Given the description of an element on the screen output the (x, y) to click on. 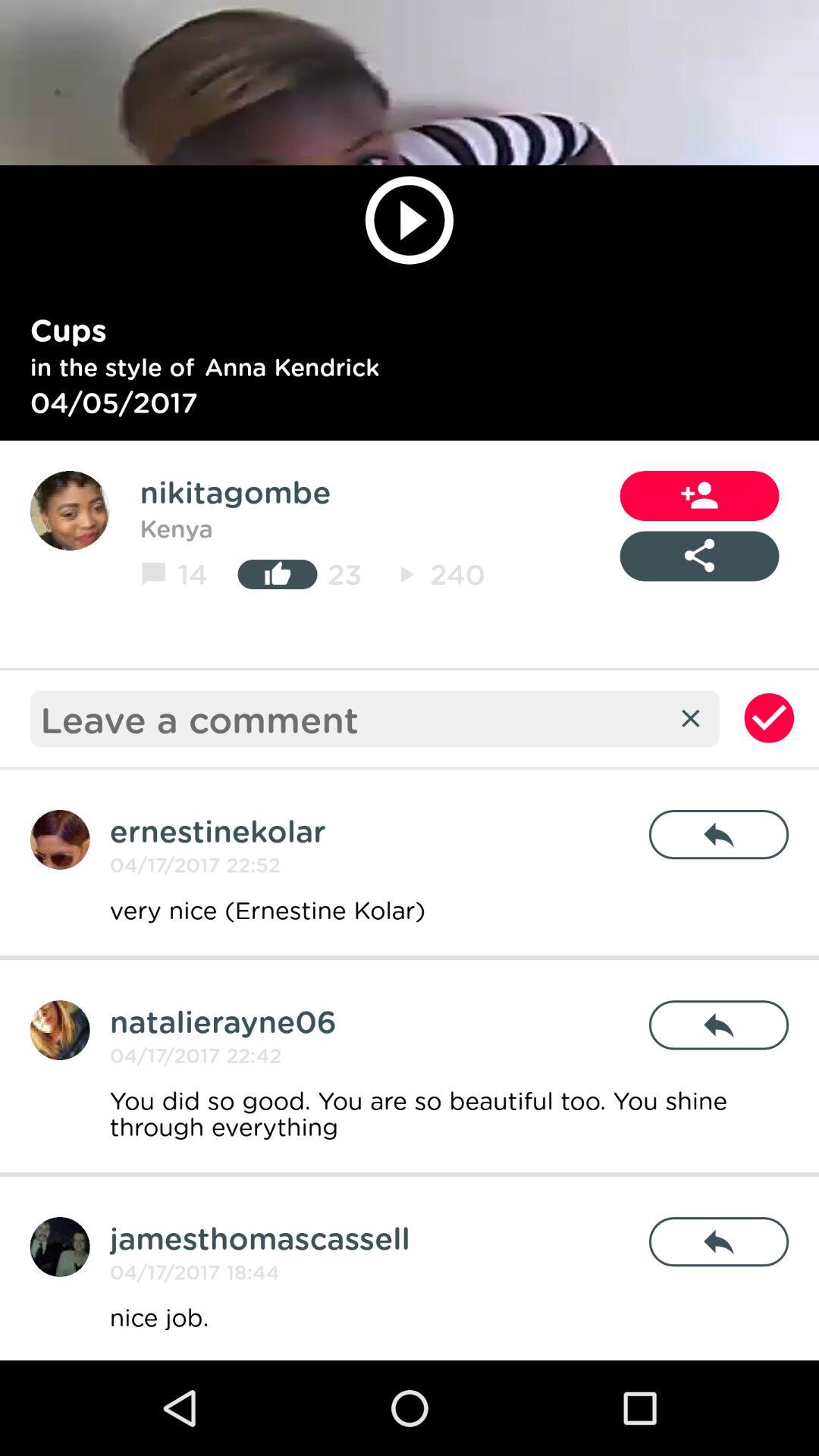
user profile (69, 510)
